Given the description of an element on the screen output the (x, y) to click on. 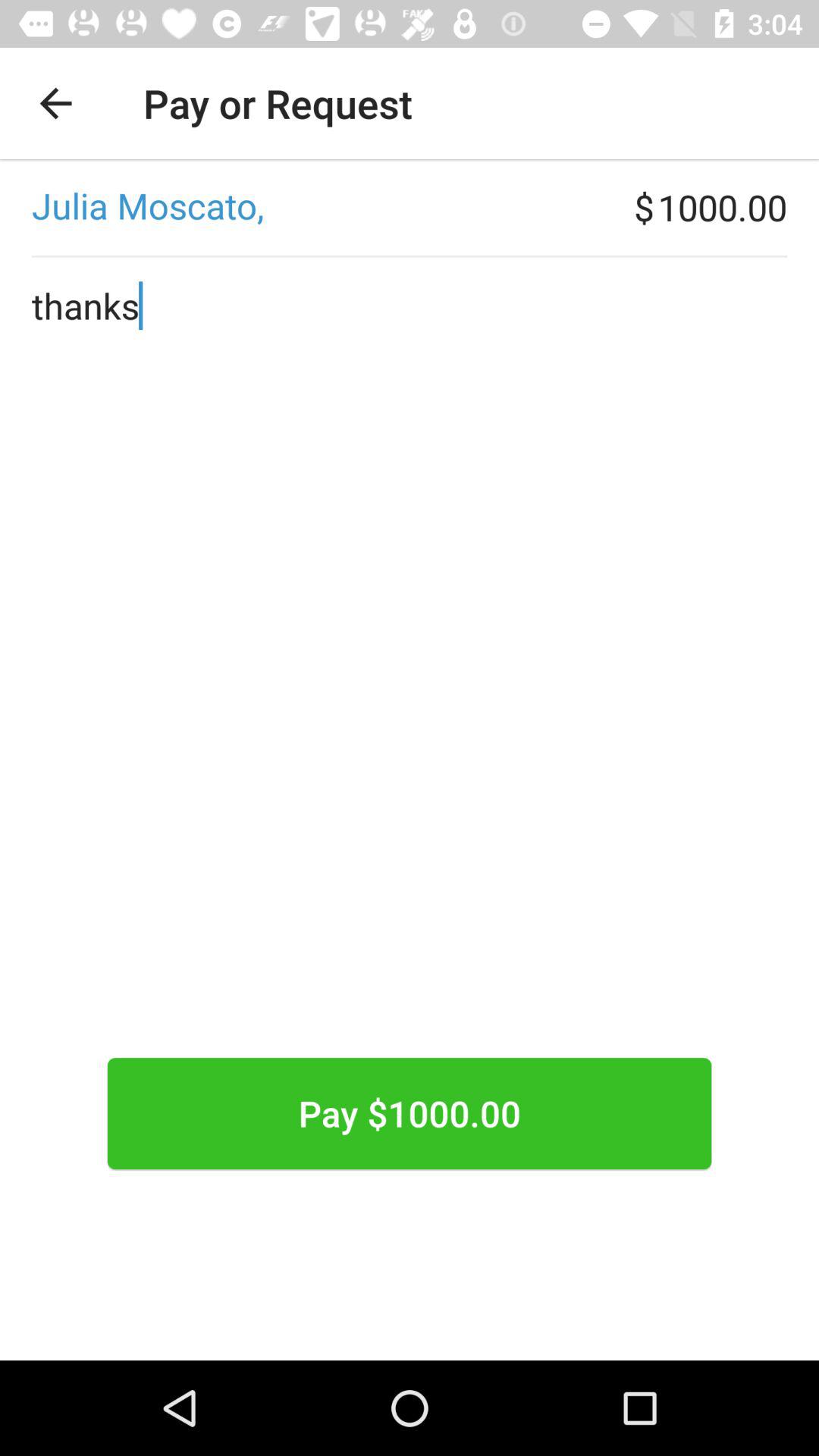
open the item above the , (55, 103)
